Given the description of an element on the screen output the (x, y) to click on. 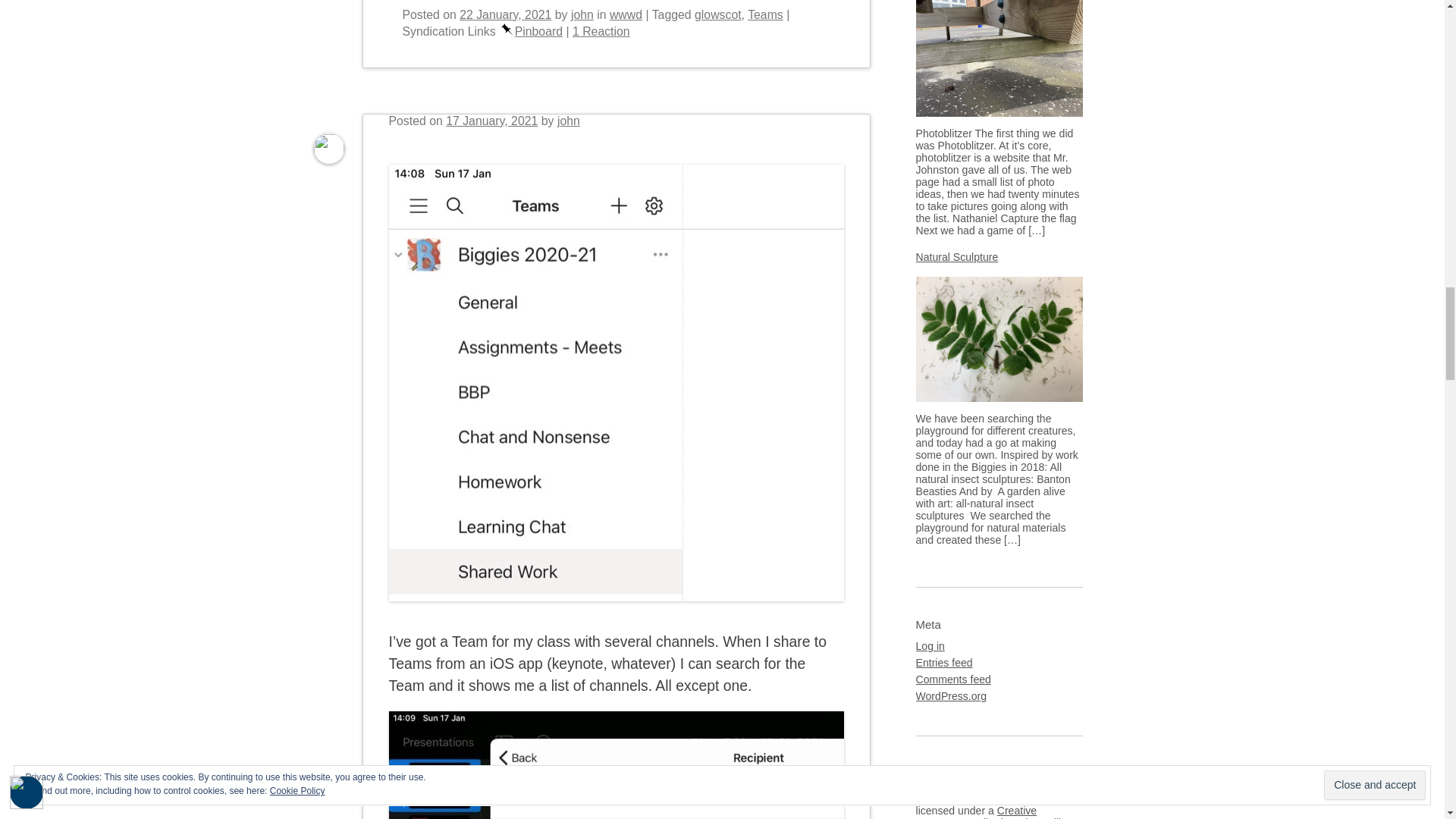
Pinboard (506, 29)
